Given the description of an element on the screen output the (x, y) to click on. 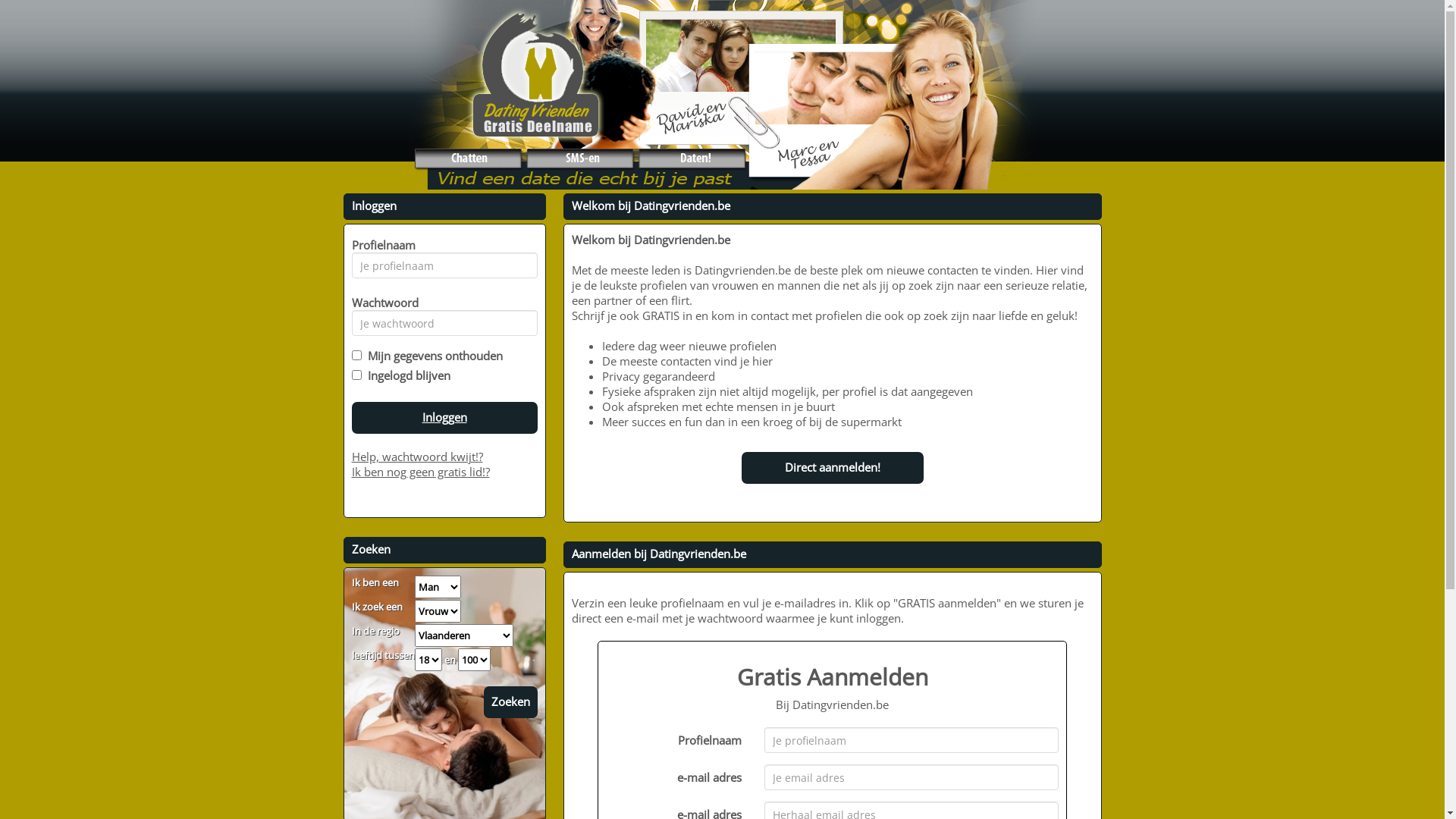
Direct aanmelden! Element type: text (832, 467)
Help, wachtwoord kwijt!? Element type: text (417, 456)
Inloggen Element type: text (444, 417)
Ik ben nog geen gratis lid!? Element type: text (420, 471)
Zoeken Element type: text (510, 702)
